Given the description of an element on the screen output the (x, y) to click on. 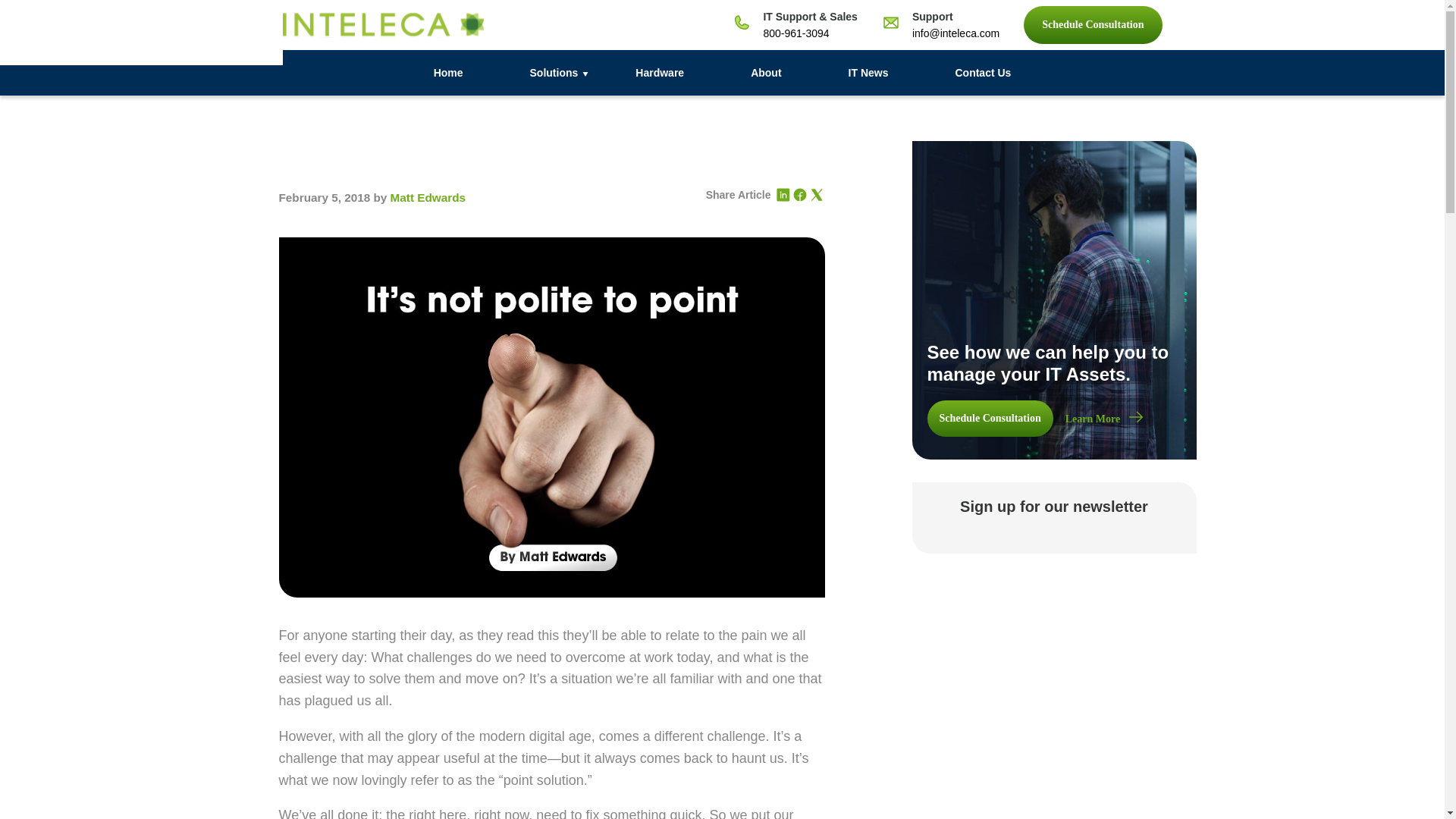
Learn More (1103, 418)
Solutions (550, 72)
800-961-3094 (795, 33)
Schedule Consultation (989, 418)
Contact Us (982, 72)
View all posts by Matt Edwards (427, 196)
Schedule Consultation (1092, 24)
IT News (868, 72)
About (765, 72)
Home (449, 72)
Matt Edwards (427, 196)
Hardware (659, 72)
